Given the description of an element on the screen output the (x, y) to click on. 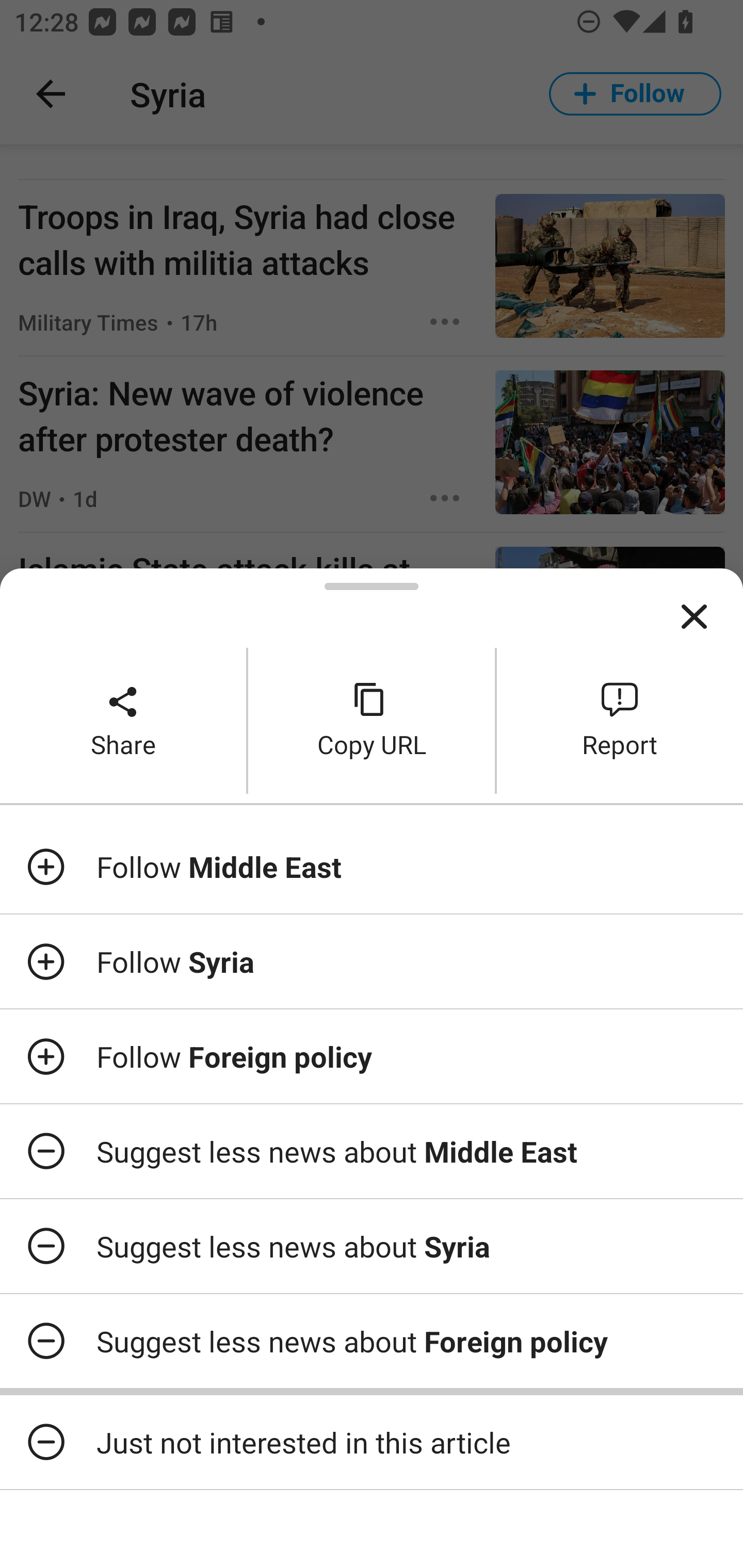
Close (694, 616)
Share (122, 720)
Copy URL (371, 720)
Report (620, 720)
Follow Middle East (371, 867)
Follow Syria (371, 961)
Follow Foreign policy (371, 1056)
Suggest less news about Middle East (371, 1150)
Suggest less news about Syria (371, 1246)
Suggest less news about Foreign policy (371, 1340)
Just not interested in this article (371, 1442)
